Given the description of an element on the screen output the (x, y) to click on. 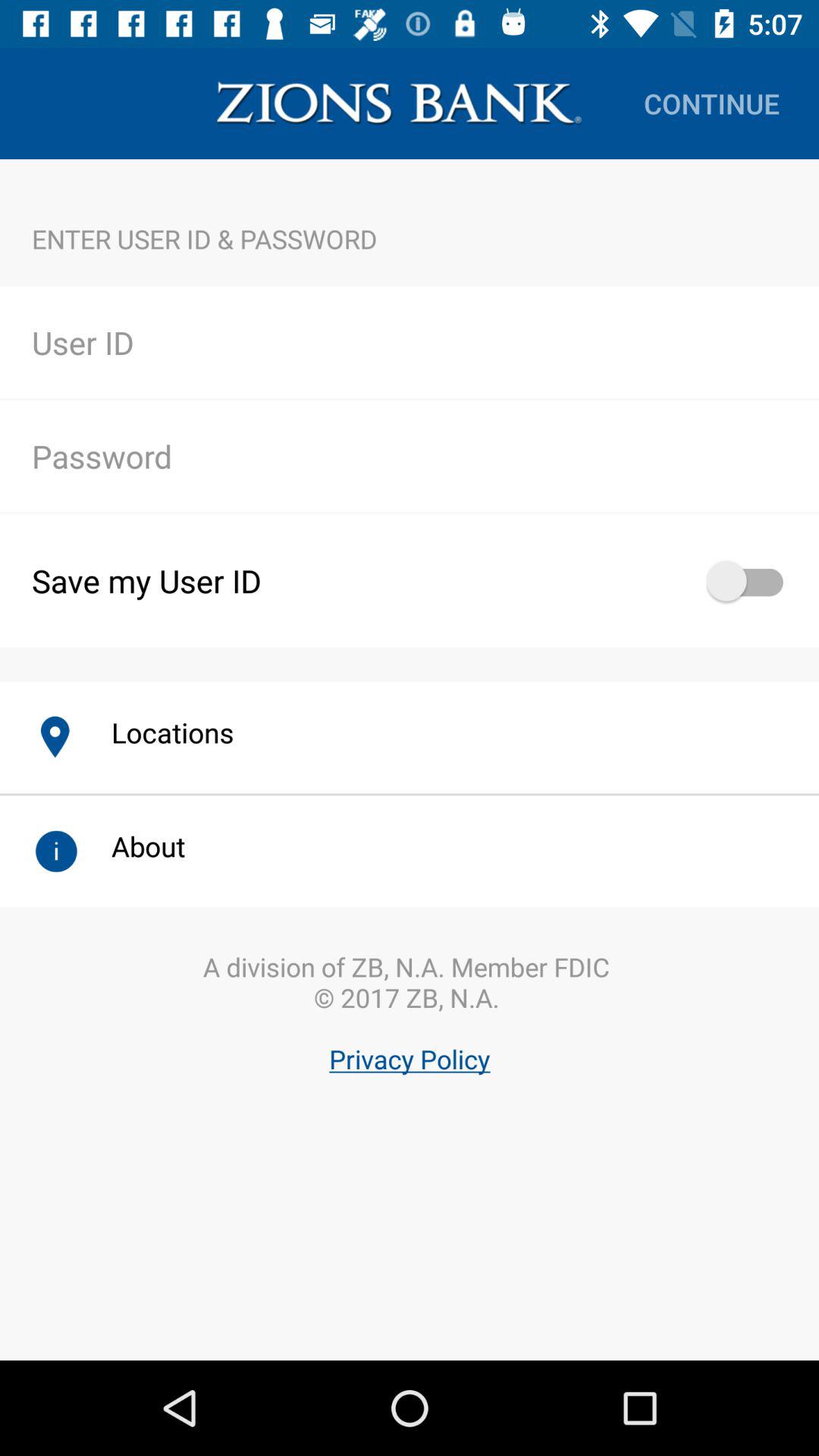
select about (132, 846)
